Given the description of an element on the screen output the (x, y) to click on. 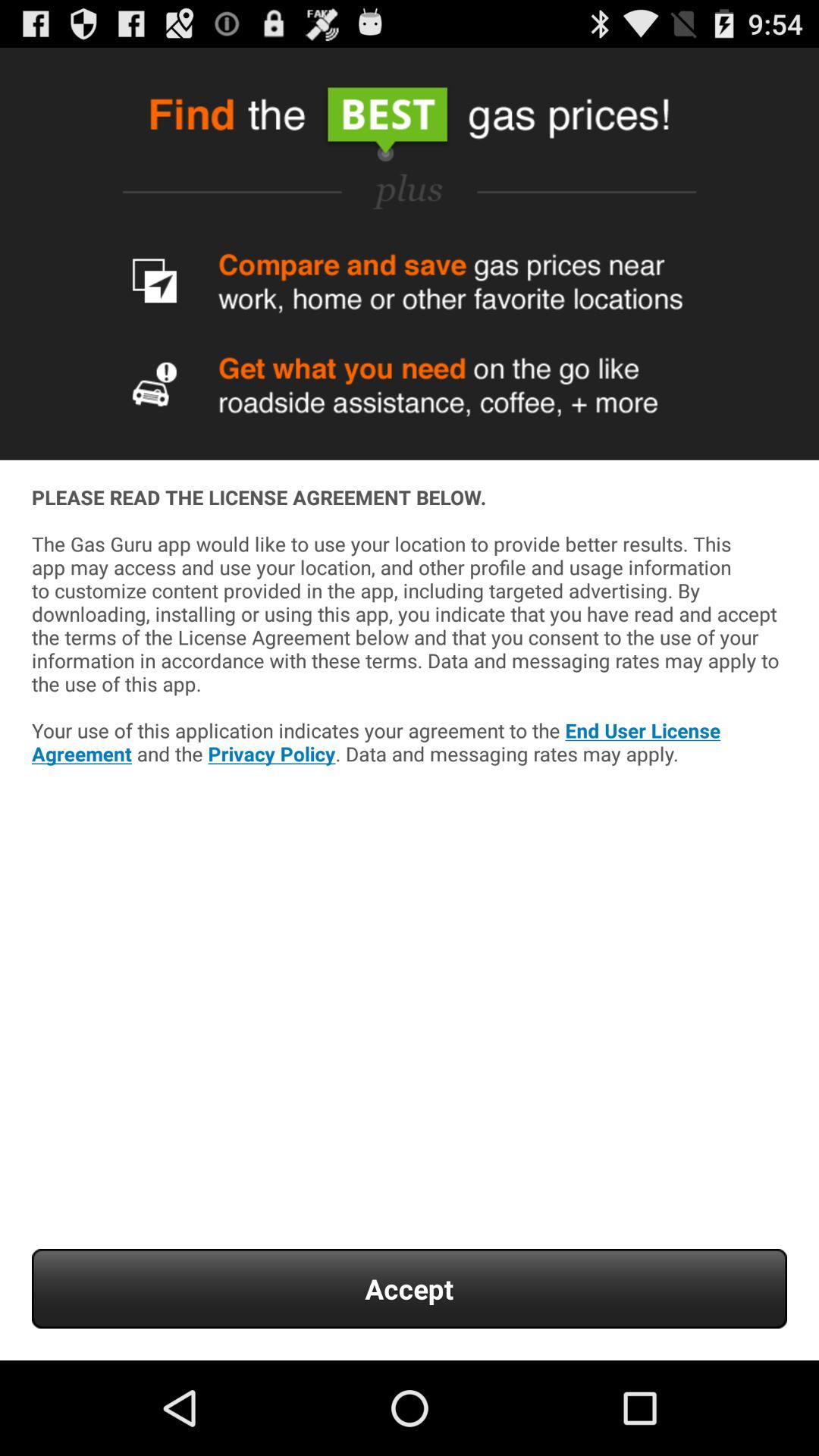
press app at the center (409, 669)
